Given the description of an element on the screen output the (x, y) to click on. 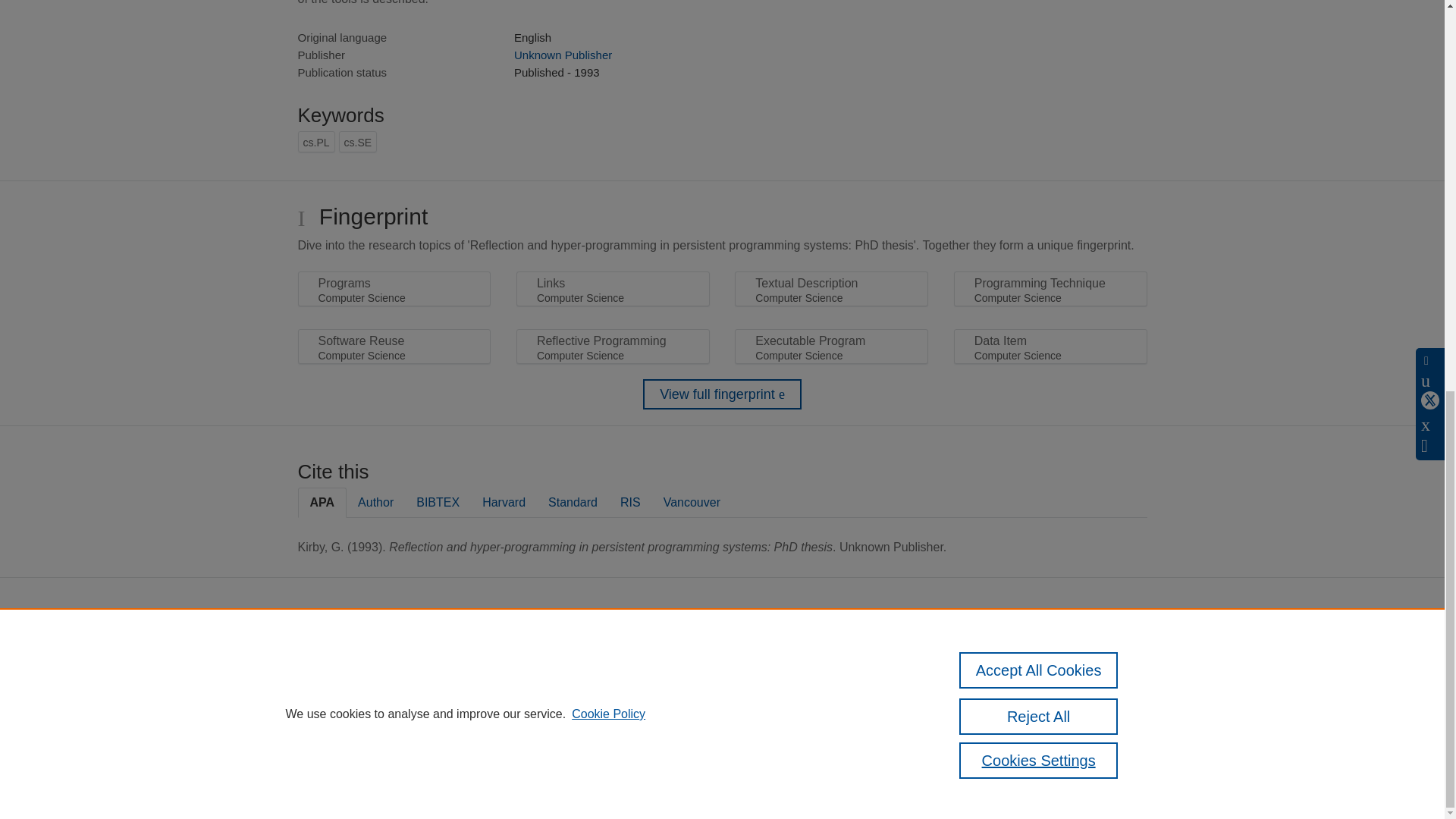
Pure (620, 653)
Unknown Publisher (562, 54)
View full fingerprint (722, 394)
Scopus (652, 653)
